Given the description of an element on the screen output the (x, y) to click on. 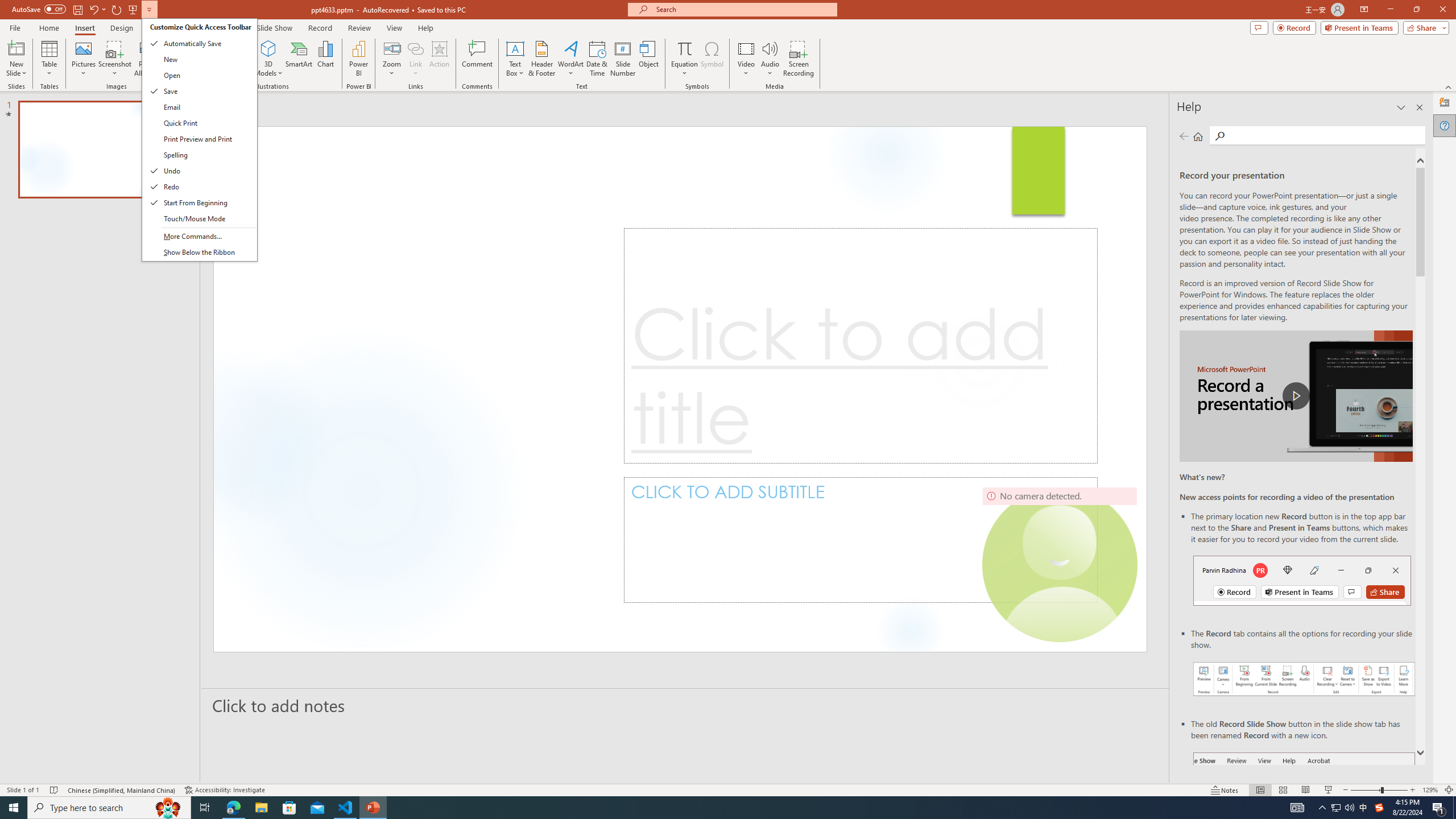
WordArt (570, 58)
Record button in top bar (1301, 580)
Screenshot (114, 58)
